Given the description of an element on the screen output the (x, y) to click on. 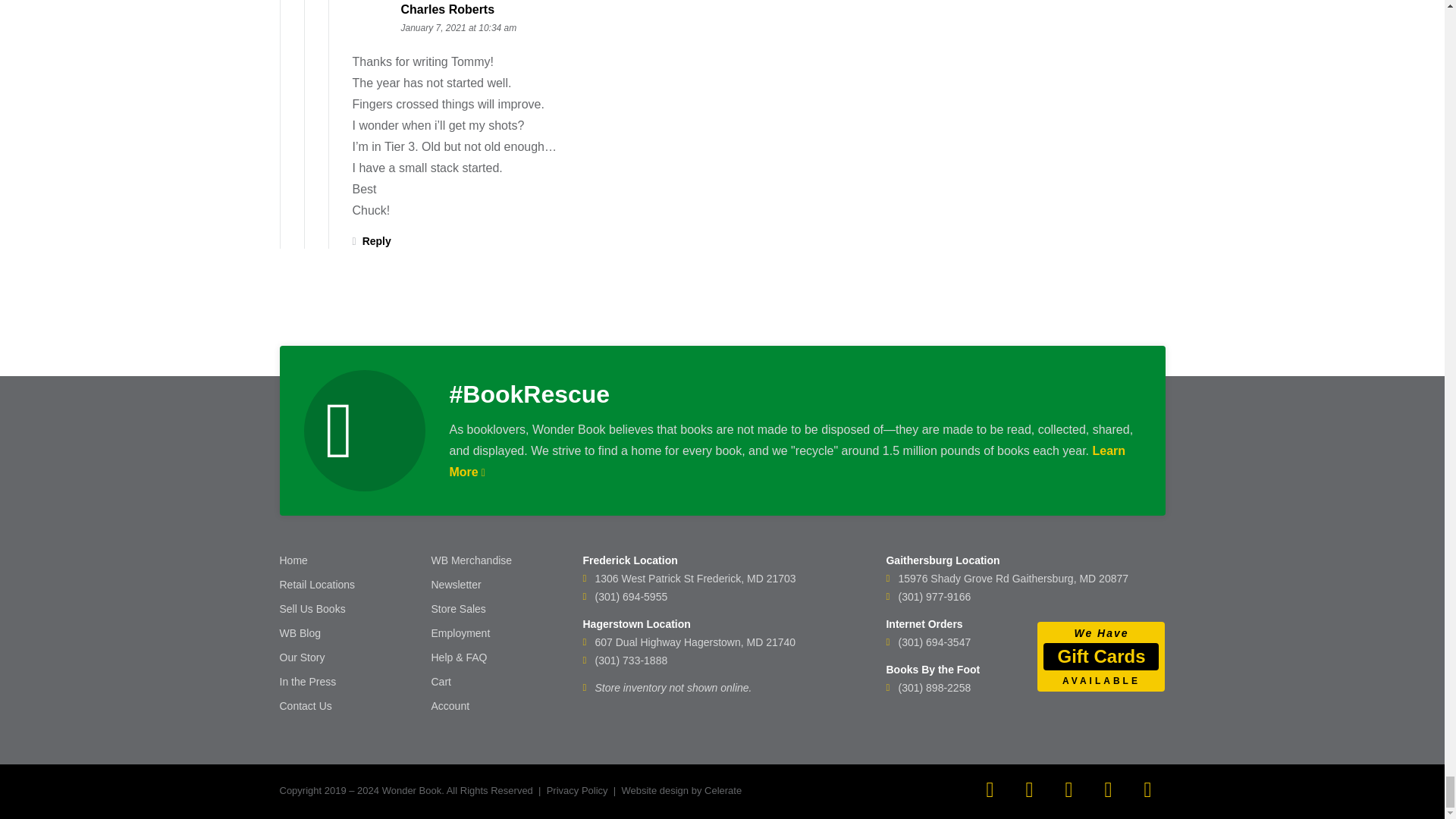
Privacy Policy (577, 790)
Web Design and Development (654, 790)
Learn More (786, 461)
